Given the description of an element on the screen output the (x, y) to click on. 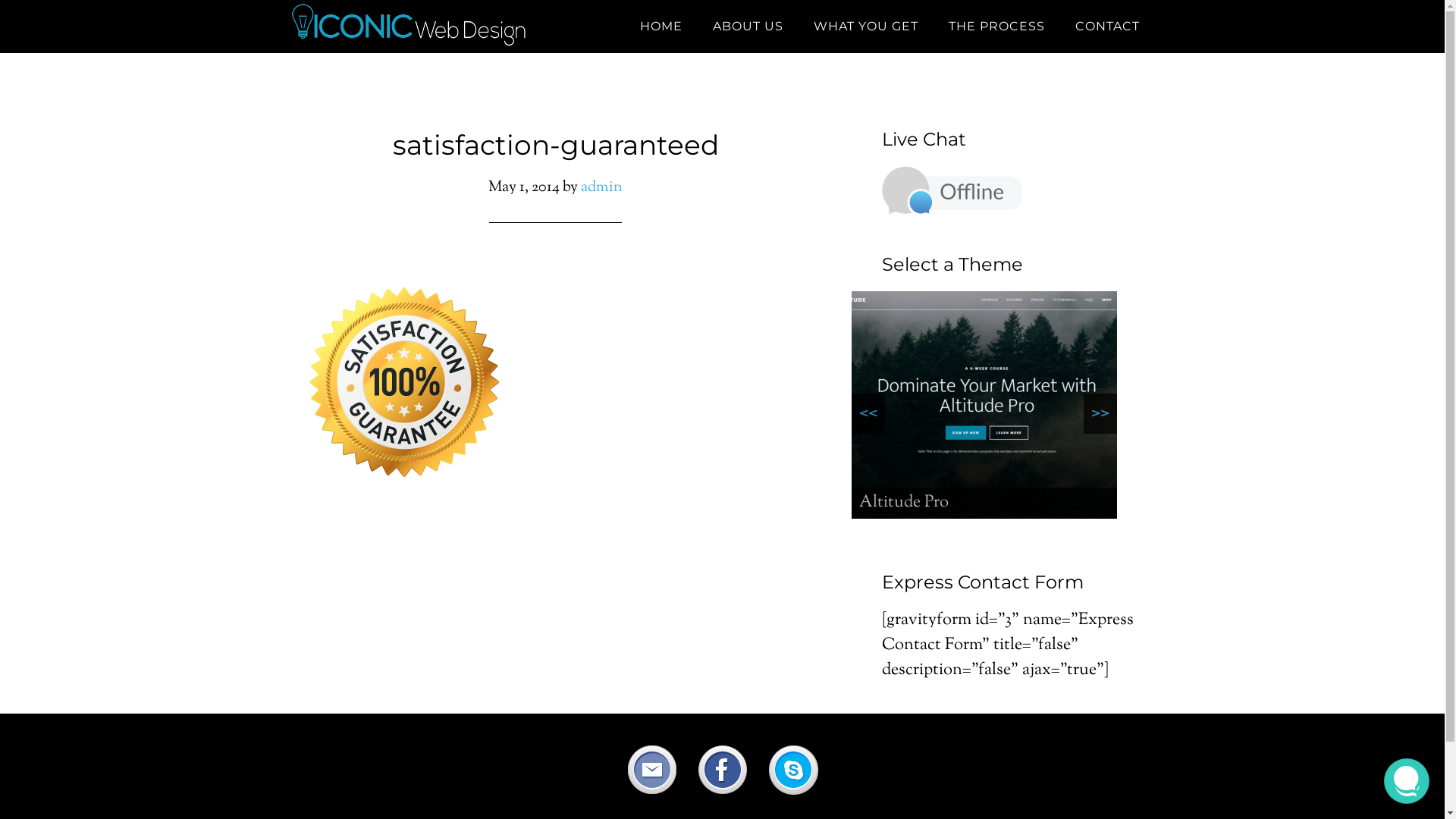
CONTACT Element type: text (1107, 26)
ICONIC WEB DESIGN -GOLD COAST Element type: text (425, 26)
admin Element type: text (601, 187)
<< Element type: text (867, 413)
Connect with us on Facebook Element type: hover (721, 791)
HOME Element type: text (660, 26)
THE PROCESS Element type: text (995, 26)
WHAT YOU GET Element type: text (864, 26)
Contact Us Element type: hover (951, 210)
Live Chat - Offline Element type: hover (951, 190)
ABOUT US Element type: text (747, 26)
Altitude Pro Element type: hover (983, 404)
>> Element type: text (1099, 413)
